Given the description of an element on the screen output the (x, y) to click on. 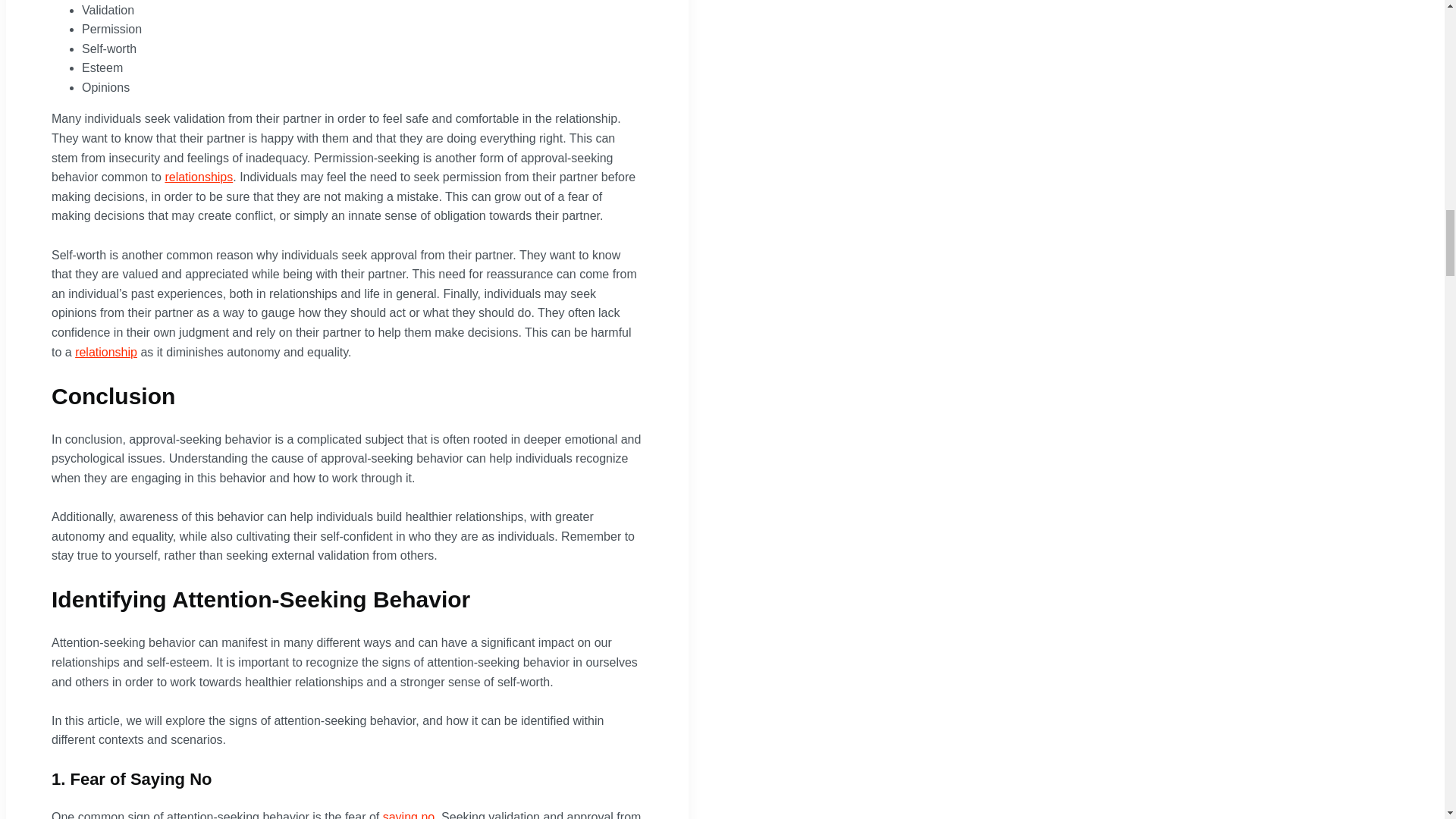
saying no (408, 814)
relationships (198, 176)
relationship (105, 351)
